Given the description of an element on the screen output the (x, y) to click on. 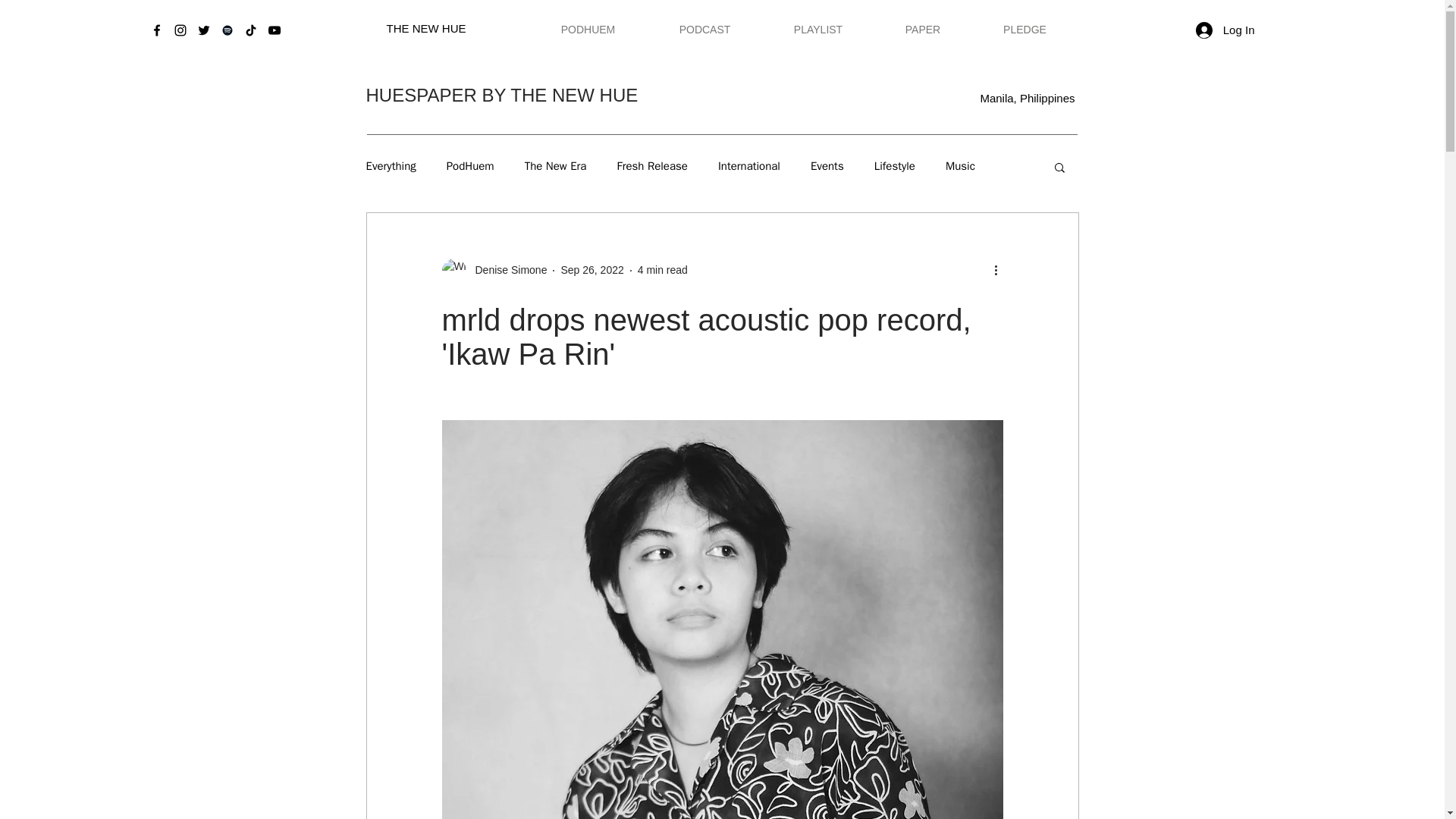
Log In (1225, 29)
The New Era (555, 165)
PODHUEM (588, 29)
PLEDGE (1025, 29)
Sep 26, 2022 (591, 269)
4 min read (662, 269)
Fresh Release (651, 165)
PAPER (922, 29)
Denise Simone (494, 269)
THE NEW HUE (426, 28)
